Given the description of an element on the screen output the (x, y) to click on. 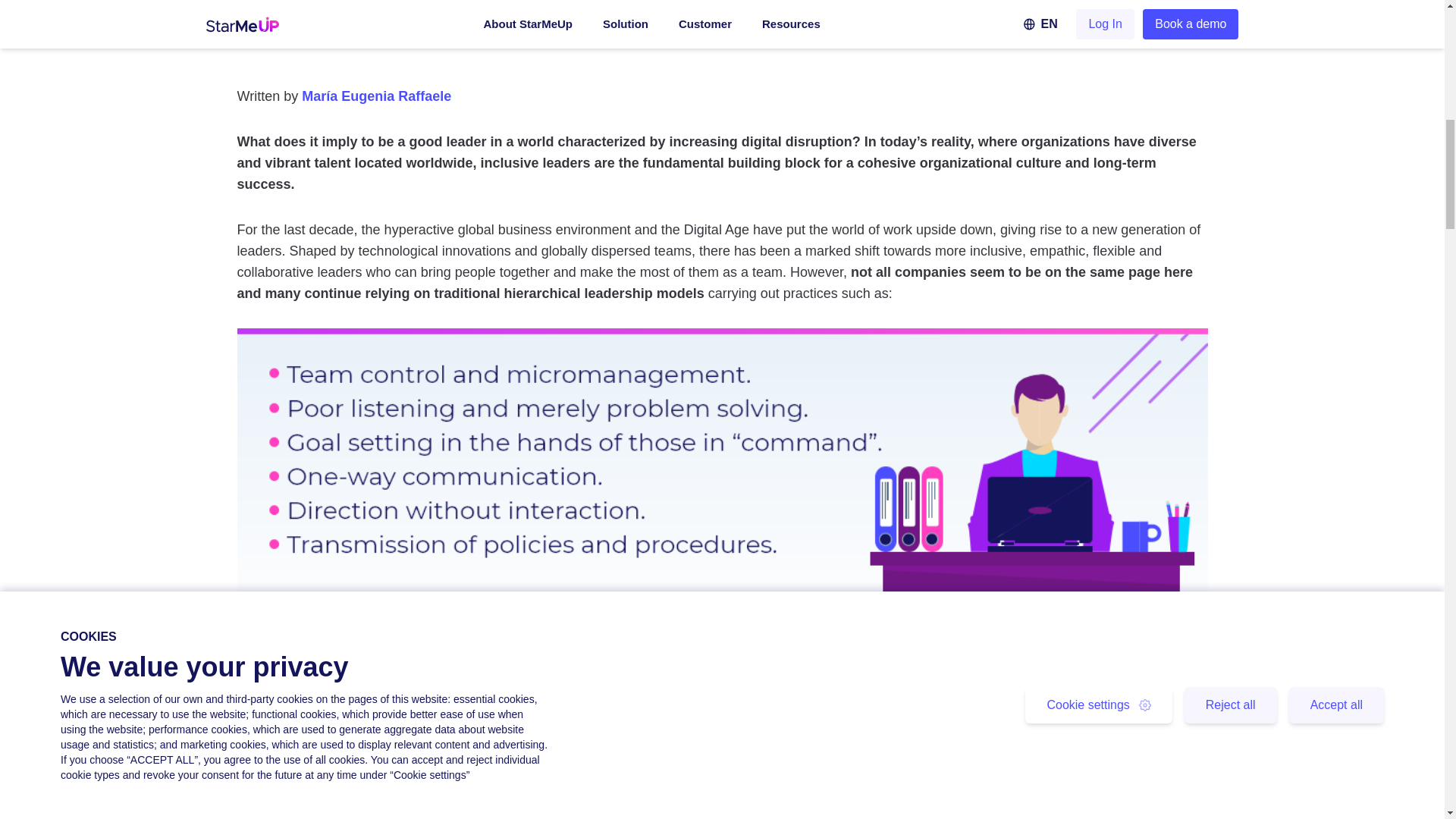
Diversity Equity and Inclusion (499, 4)
leadership (1071, 631)
organizational culture (990, 162)
good leader (449, 141)
